Given the description of an element on the screen output the (x, y) to click on. 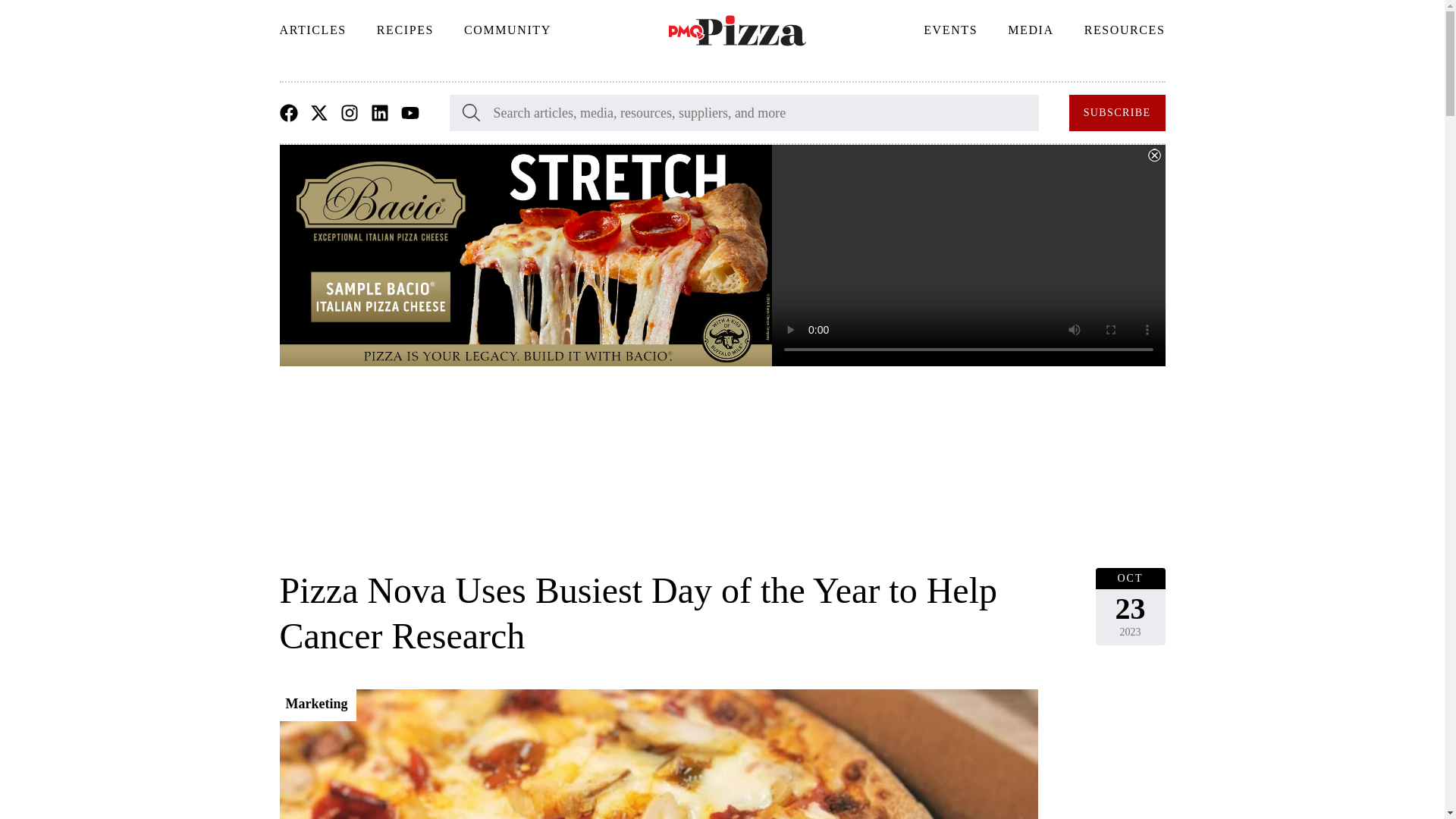
MEDIA (1030, 29)
ARTICLES (312, 29)
3rd party ad content (721, 485)
EVENTS (950, 29)
COMMUNITY (507, 29)
RECIPES (404, 29)
RESOURCES (1124, 29)
